Given the description of an element on the screen output the (x, y) to click on. 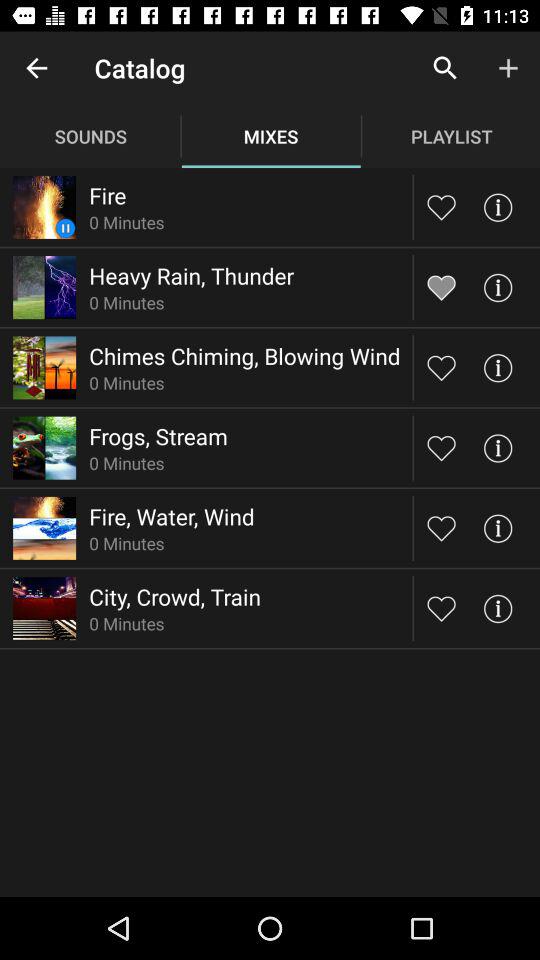
more information (498, 527)
